Given the description of an element on the screen output the (x, y) to click on. 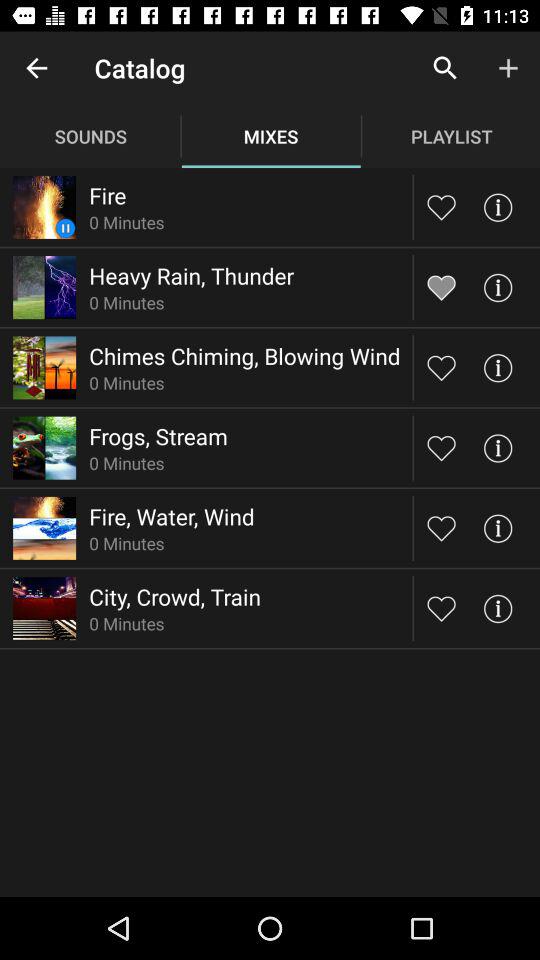
more information (498, 527)
